Given the description of an element on the screen output the (x, y) to click on. 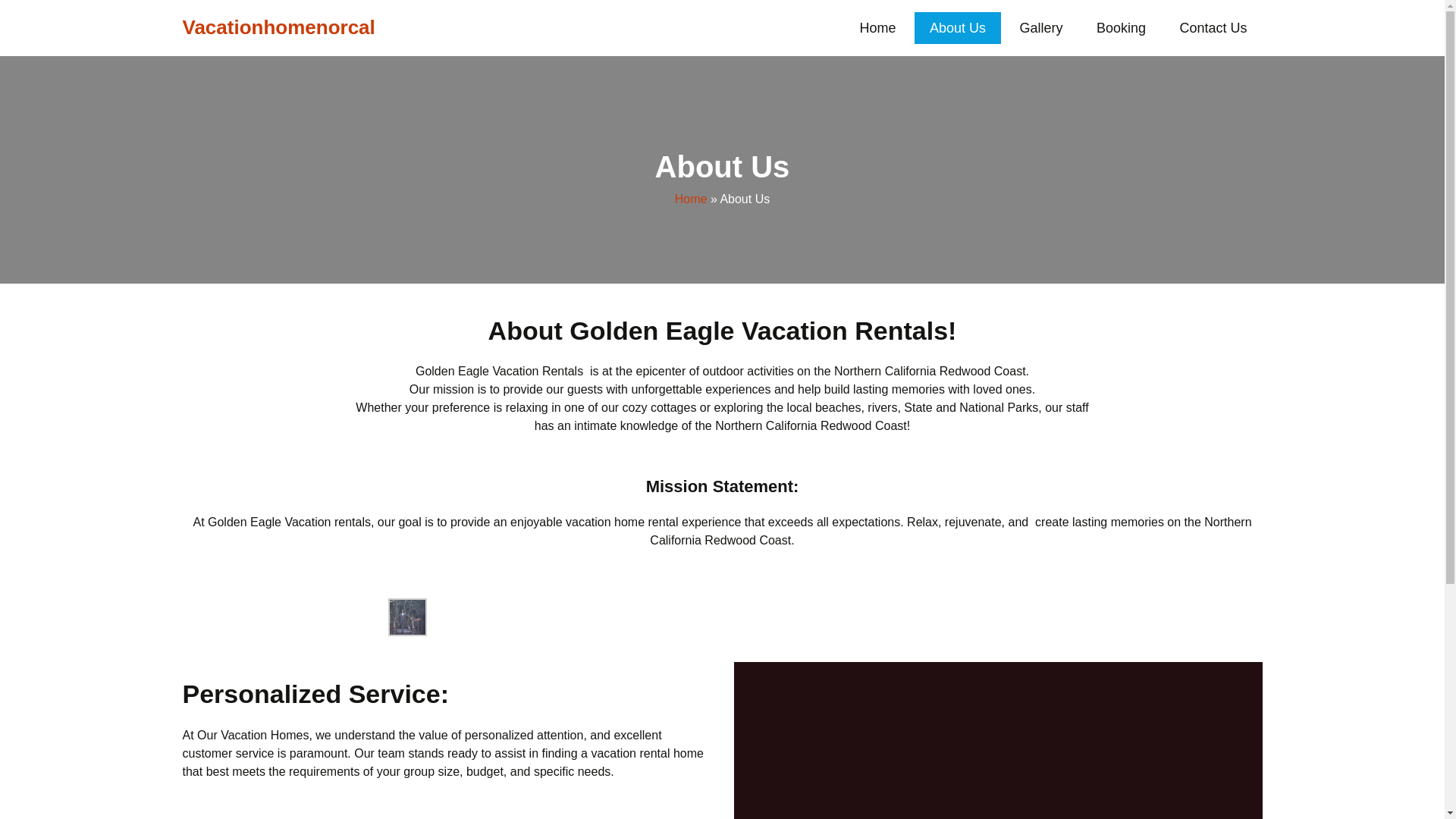
Home (877, 28)
Contact Us (1212, 28)
Gallery (1040, 28)
Home (691, 198)
Vacationhomenorcal (278, 27)
Booking (1120, 28)
About Us (957, 28)
Vacationhomenorcal (278, 27)
